Given the description of an element on the screen output the (x, y) to click on. 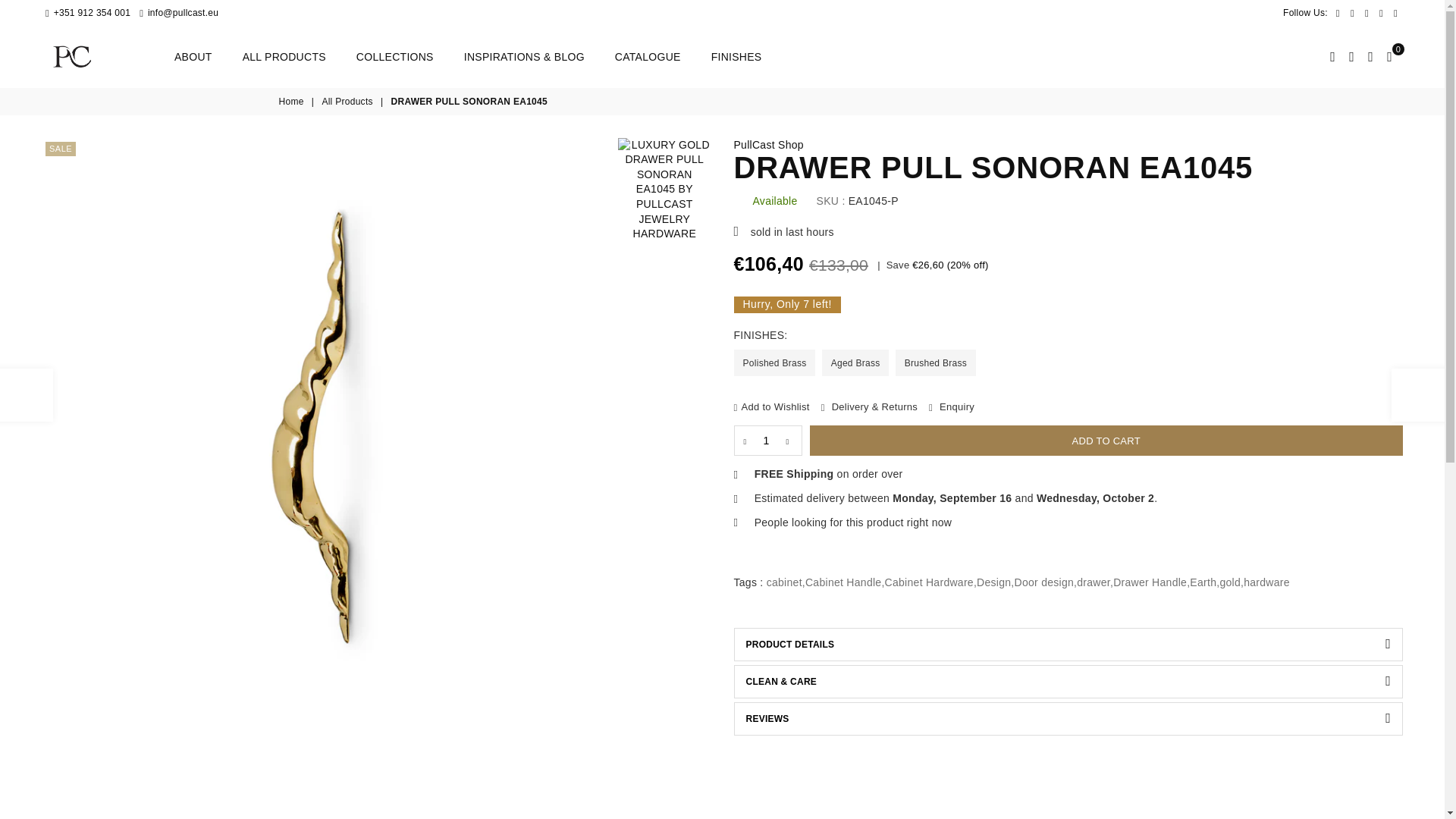
Previous Product (26, 394)
YouTube (1396, 13)
PullCast Shop on Instagram (1381, 13)
PullCast Shop on Twitter (1352, 13)
PullCast Shop on Facebook (1337, 13)
COLLECTIONS (394, 56)
Facebook (1337, 13)
ALL PRODUCTS (284, 56)
Instagram (1381, 13)
PullCast Shop (768, 144)
